Given the description of an element on the screen output the (x, y) to click on. 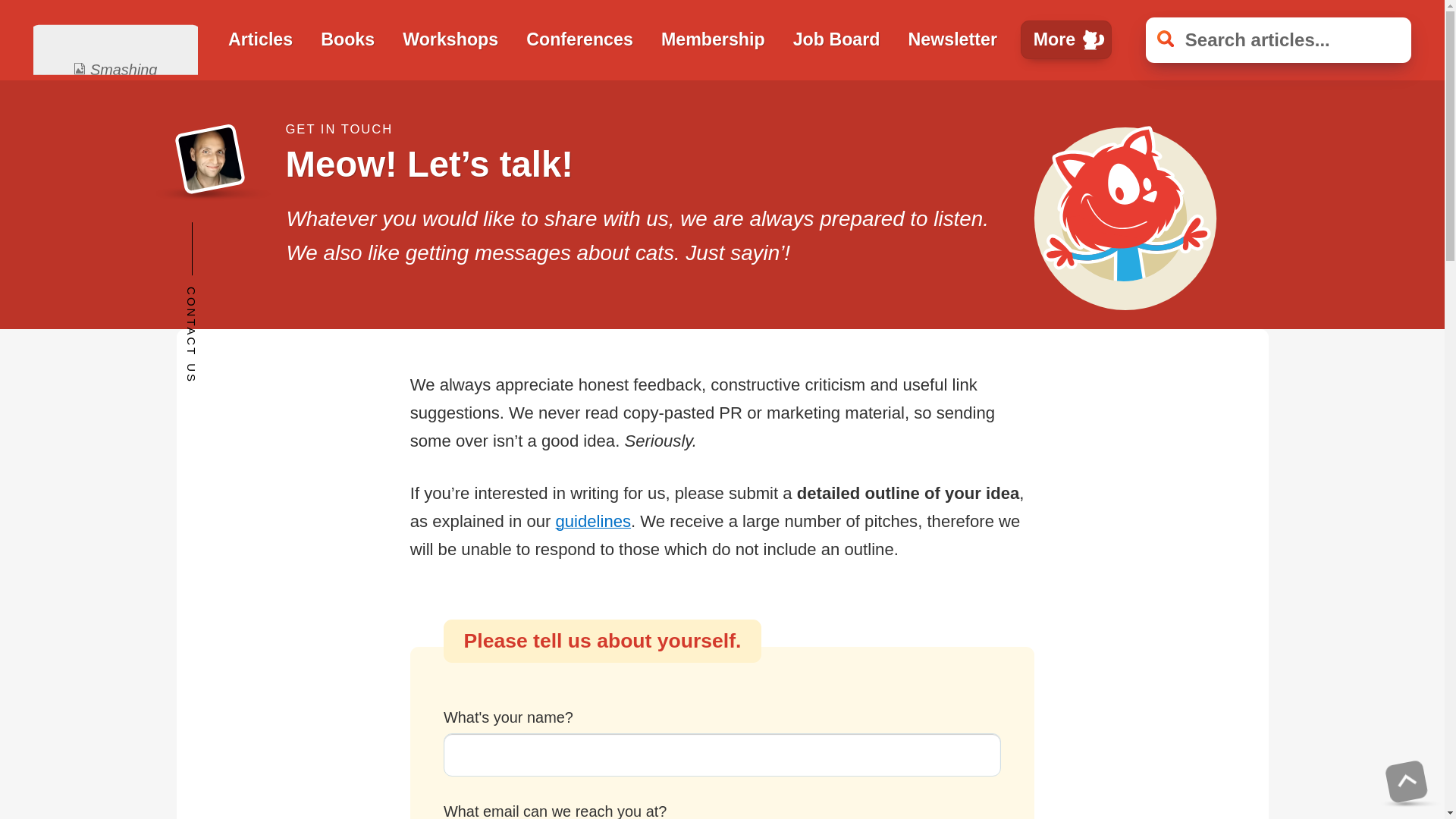
Workshops (450, 39)
Books (347, 39)
Articles (260, 39)
Search (15, 7)
Conferences (579, 39)
Job Board (836, 39)
Newsletter (951, 39)
guidelines (592, 521)
Back to top (1403, 777)
Membership (712, 39)
More (1066, 39)
